Given the description of an element on the screen output the (x, y) to click on. 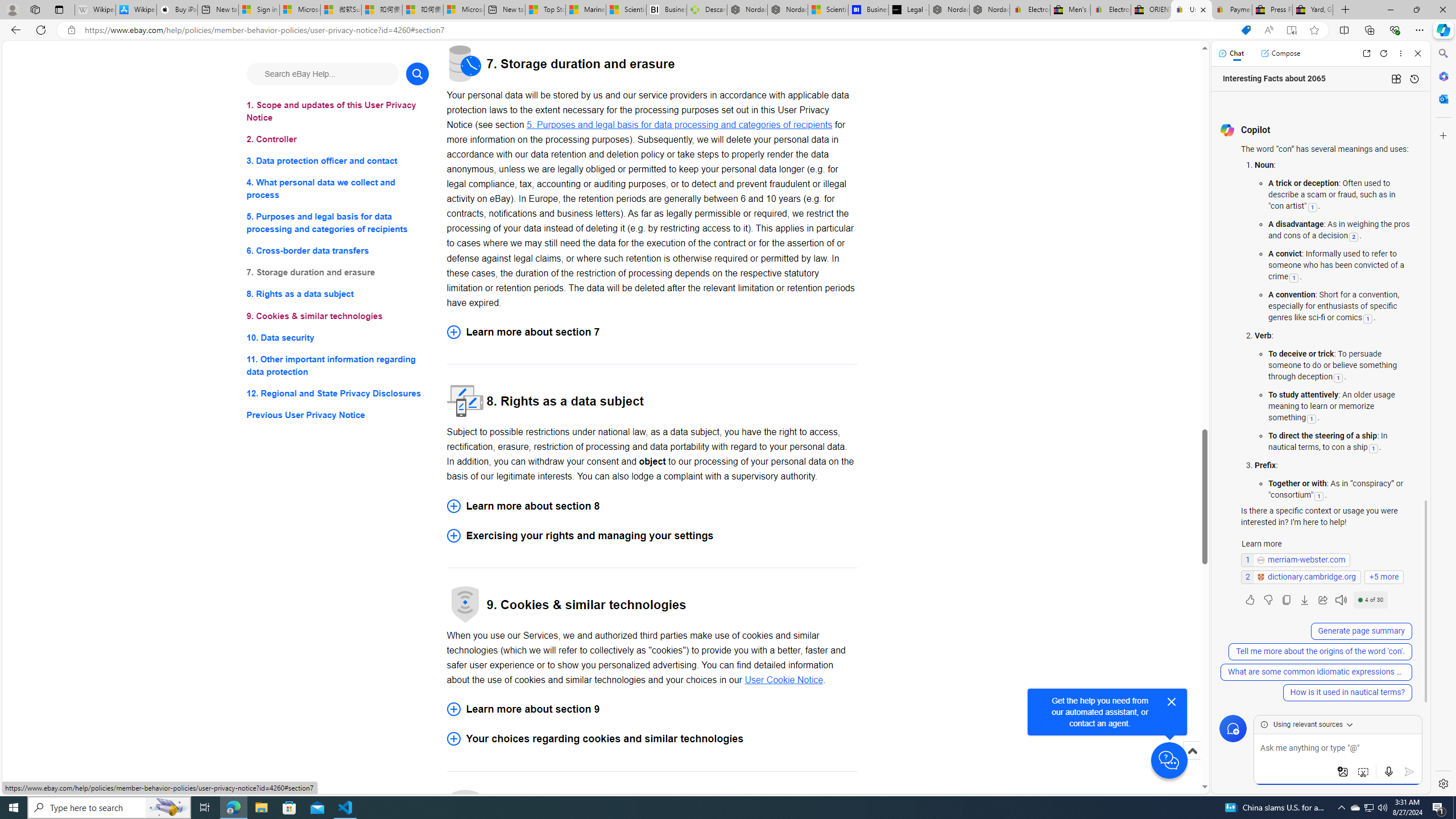
Enter Immersive Reader (F9) (1291, 29)
Microsoft account | Account Checkup (463, 9)
12. Regional and State Privacy Disclosures (337, 392)
6. Cross-border data transfers (337, 250)
Marine life - MSN (585, 9)
Learn more about section 8 (651, 505)
3. Data protection officer and contact (337, 160)
4. What personal data we collect and process (337, 189)
